Given the description of an element on the screen output the (x, y) to click on. 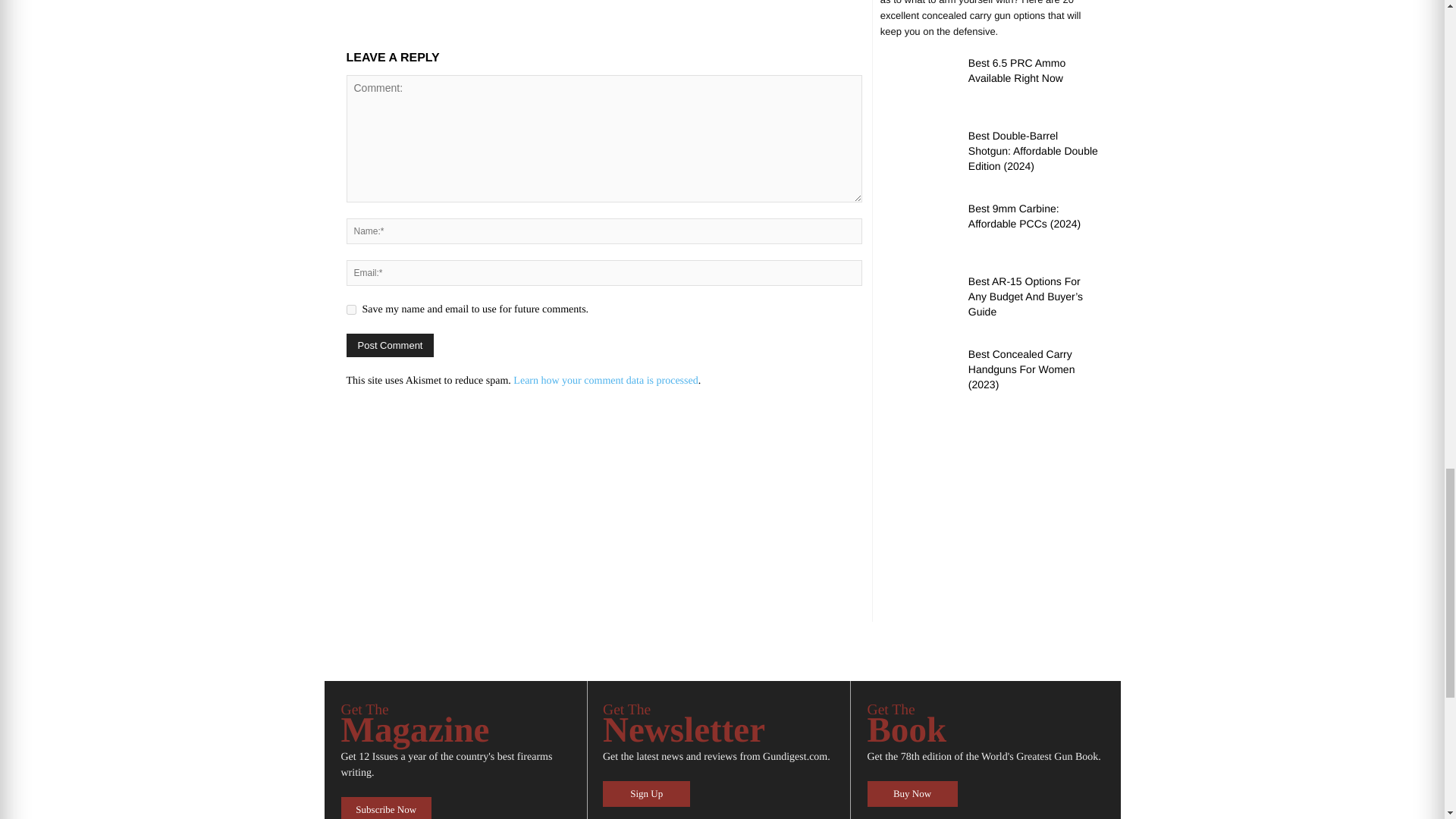
Post Comment (389, 345)
yes (350, 309)
